Given the description of an element on the screen output the (x, y) to click on. 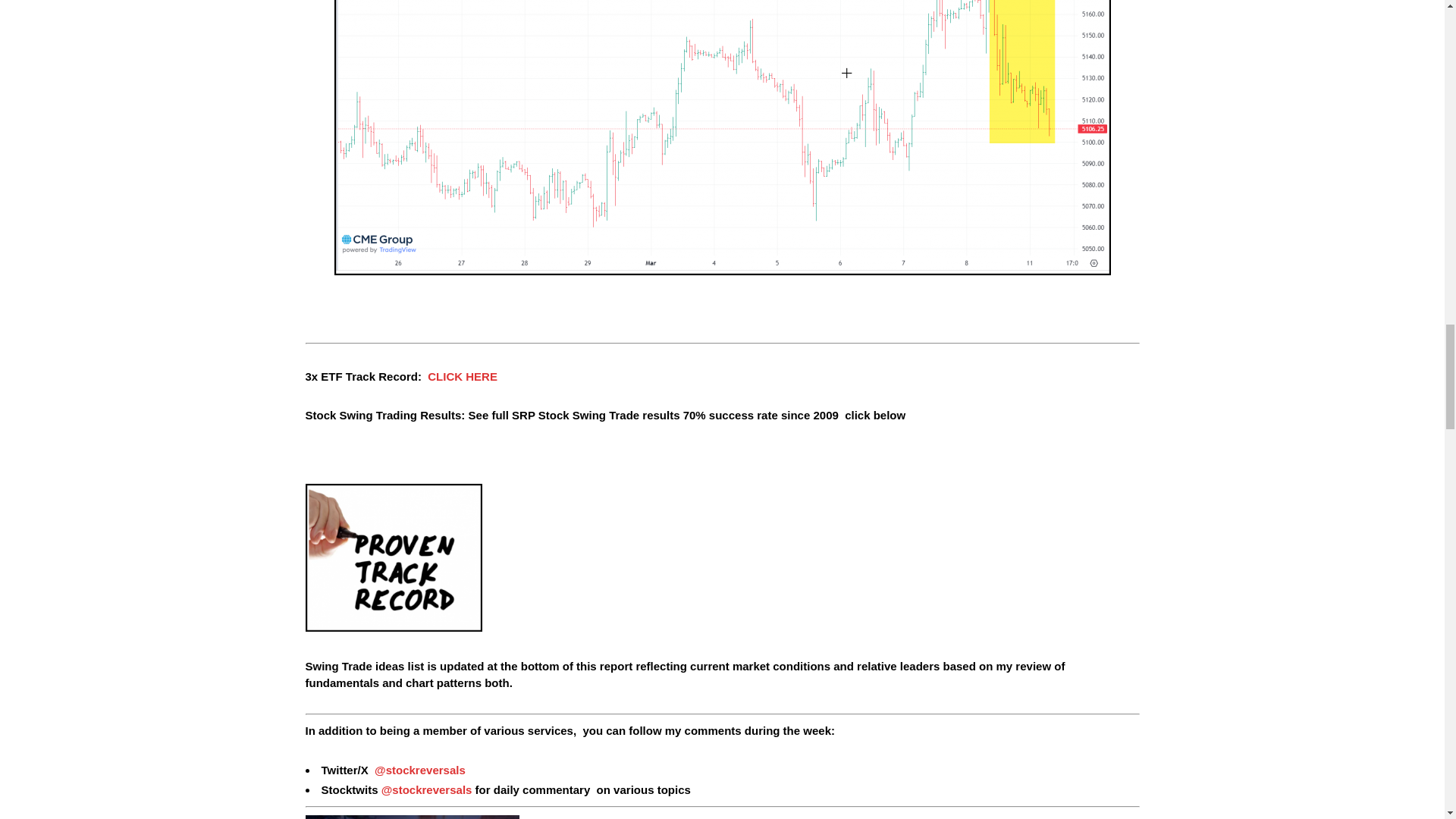
CLICK HERE (462, 376)
